Given the description of an element on the screen output the (x, y) to click on. 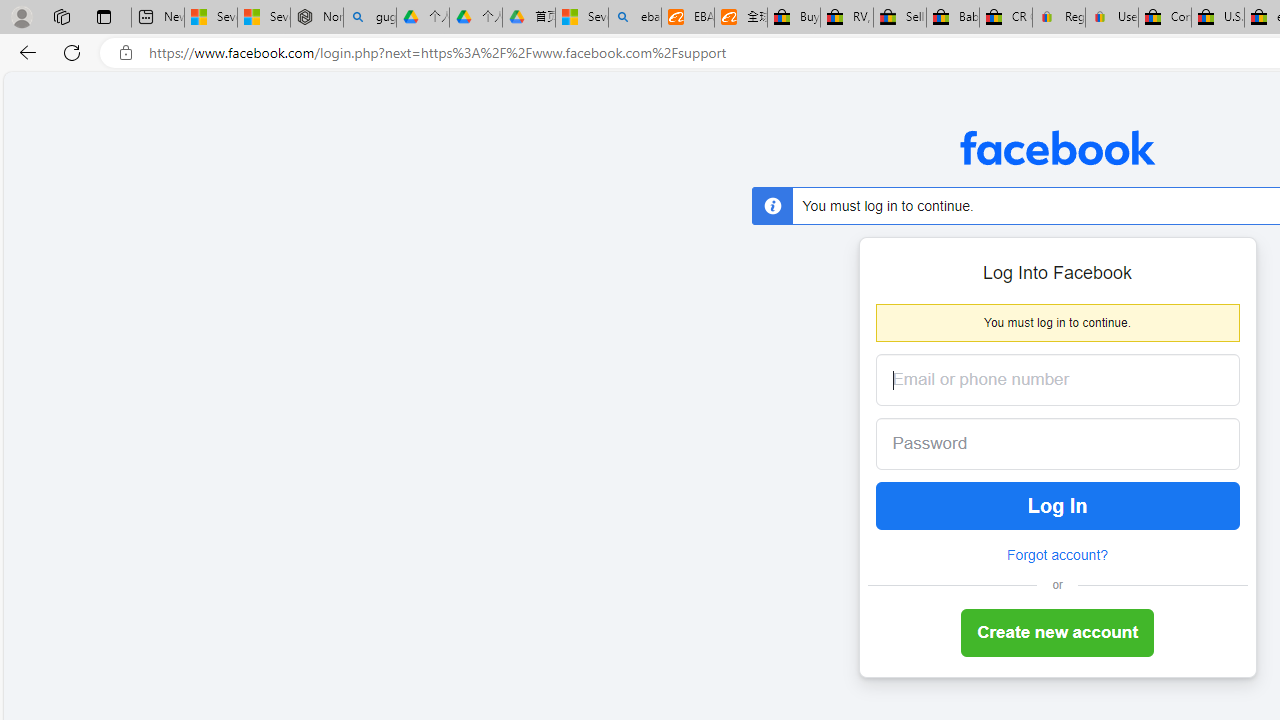
guge yunpan - Search (369, 17)
Email or phone number (1057, 380)
Create new account (1057, 633)
Log In (1057, 506)
Register: Create a personal eBay account (1059, 17)
Consumer Health Data Privacy Policy - eBay Inc. (1165, 17)
Facebook (1056, 147)
